Given the description of an element on the screen output the (x, y) to click on. 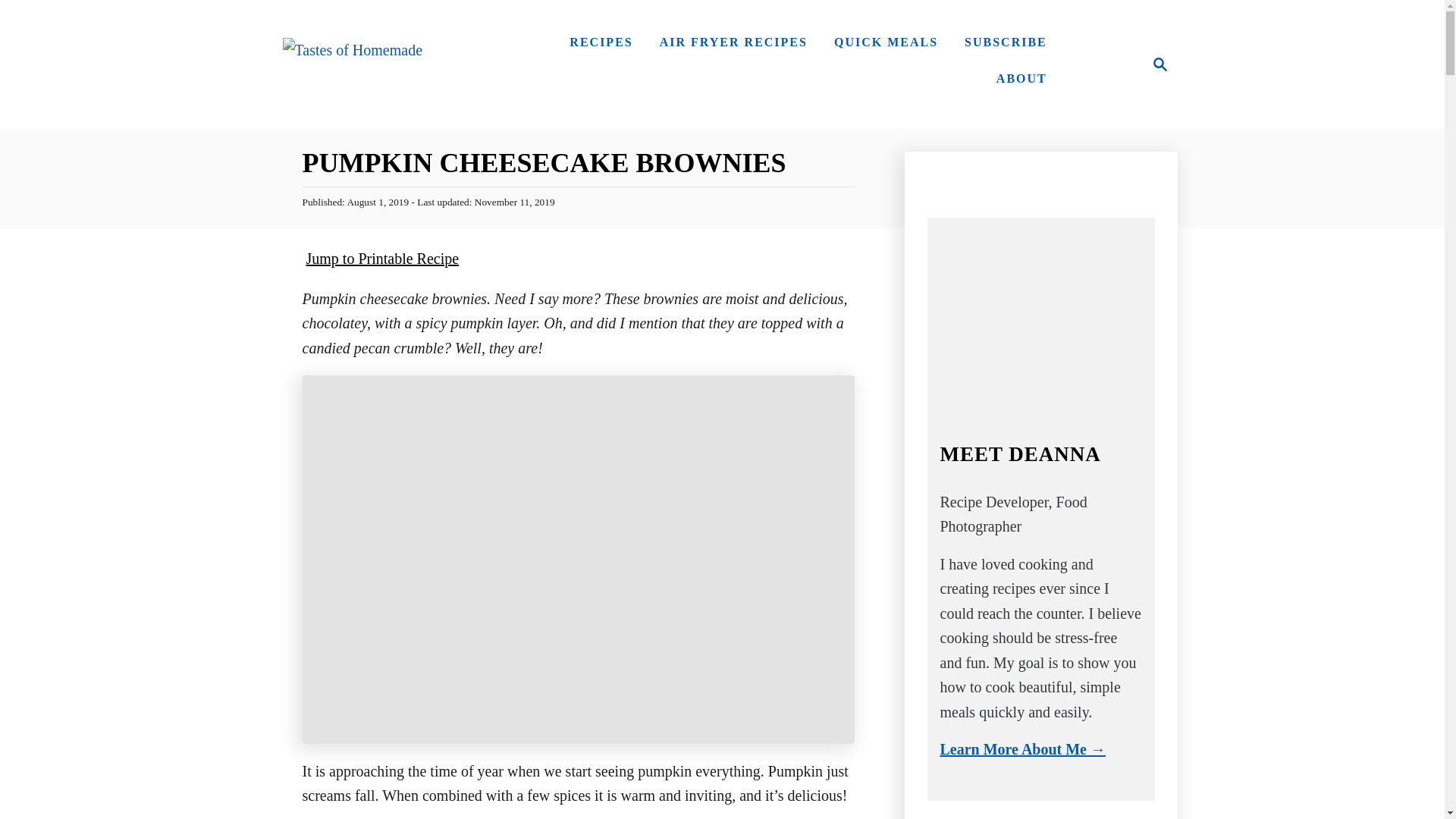
AIR FRYER RECIPES (733, 41)
QUICK MEALS (885, 41)
Tastes of Homemade (352, 64)
Magnifying Glass (1160, 64)
RECIPES (601, 41)
SUBSCRIBE (1005, 41)
ABOUT (1021, 78)
